Given the description of an element on the screen output the (x, y) to click on. 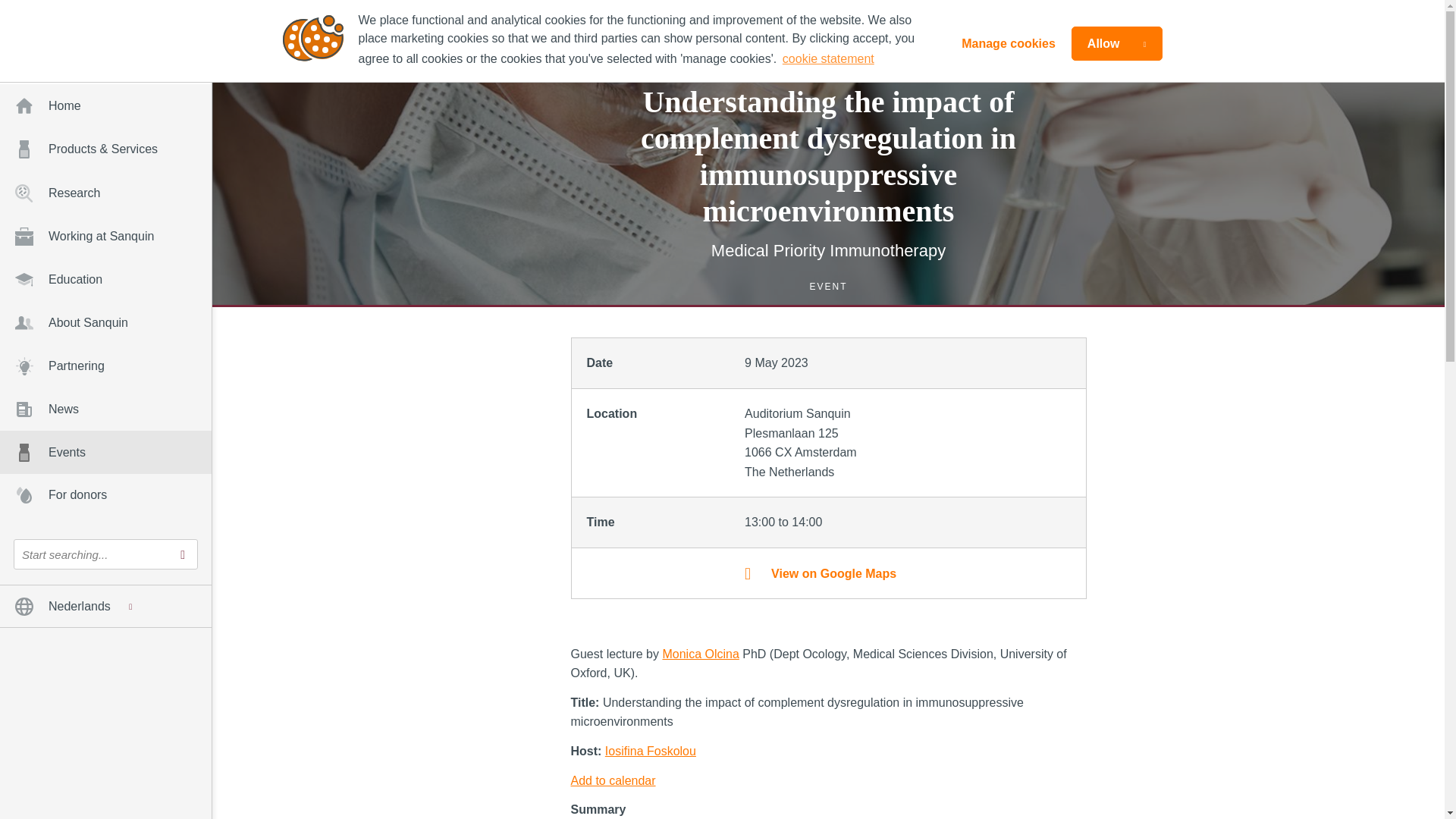
Home (105, 105)
cookie statement (828, 58)
Allow (1116, 43)
Manage cookies (1007, 43)
